Given the description of an element on the screen output the (x, y) to click on. 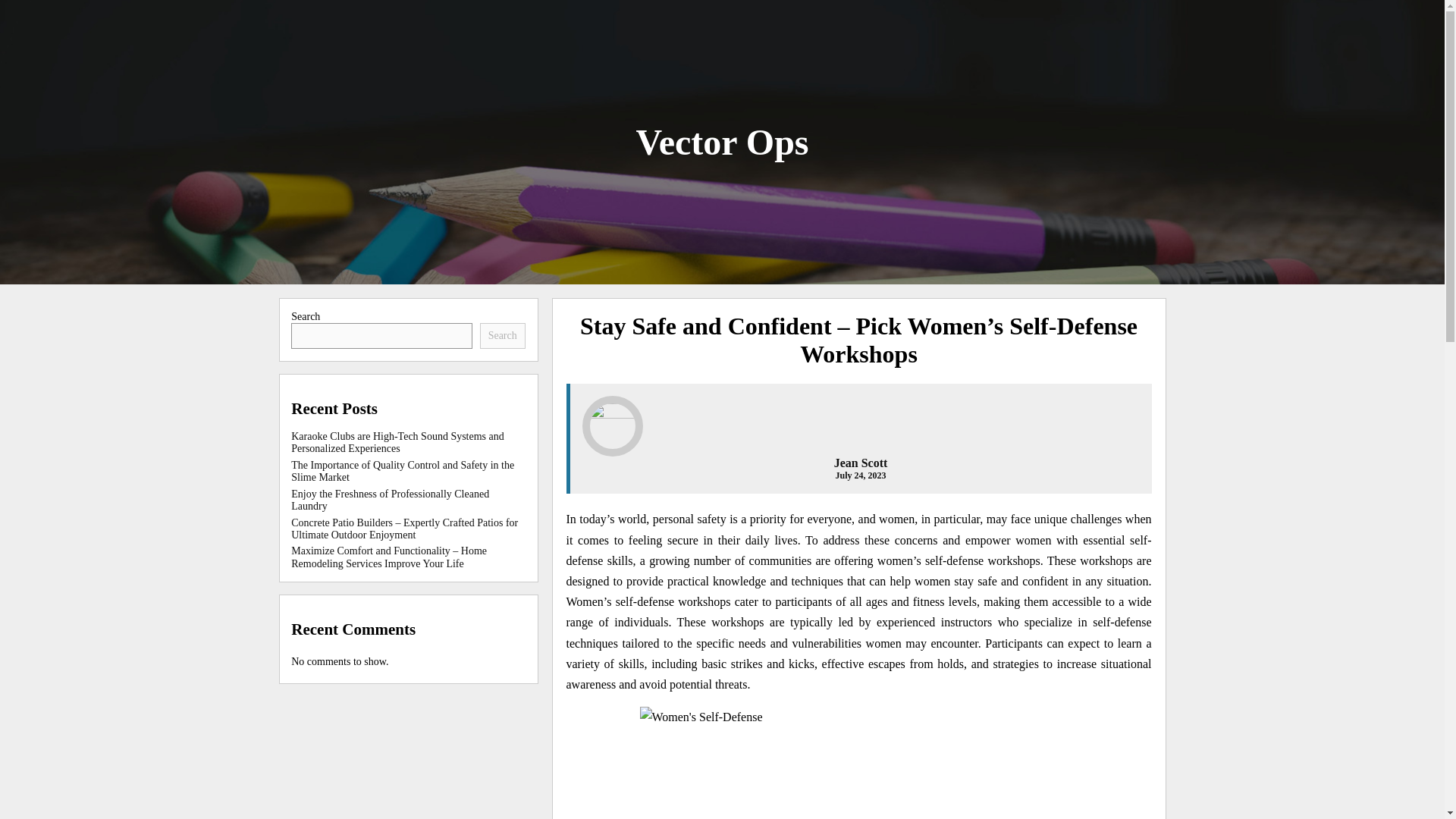
Search (502, 335)
July 24, 2023 (859, 475)
Enjoy the Freshness of Professionally Cleaned Laundry (390, 499)
Jean Scott (861, 462)
View all posts by Jean Scott (861, 462)
Vector Ops (721, 142)
4:21 am (859, 475)
